Given the description of an element on the screen output the (x, y) to click on. 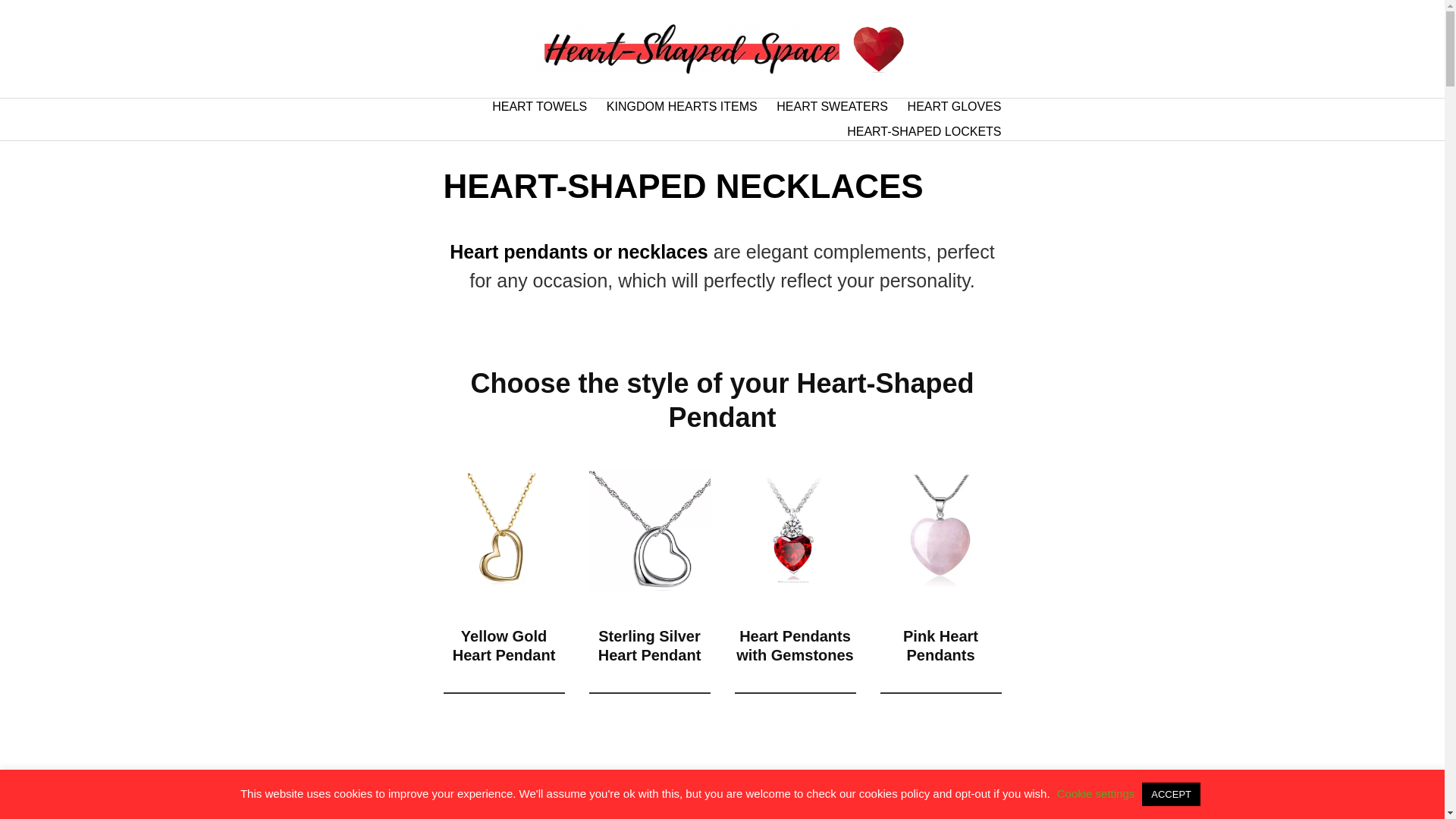
HEART SWEATERS (832, 106)
HEART-SHAPED LOCKETS (924, 131)
KINGDOM HEARTS ITEMS (682, 106)
Sterling Silver Heart Pendant (649, 645)
HEART TOWELS (539, 106)
Pink Heart Pendants (940, 645)
HEART GLOVES (954, 106)
Yellow Gold Heart Pendant (504, 645)
Heart Pendants with Gemstones (794, 645)
